Given the description of an element on the screen output the (x, y) to click on. 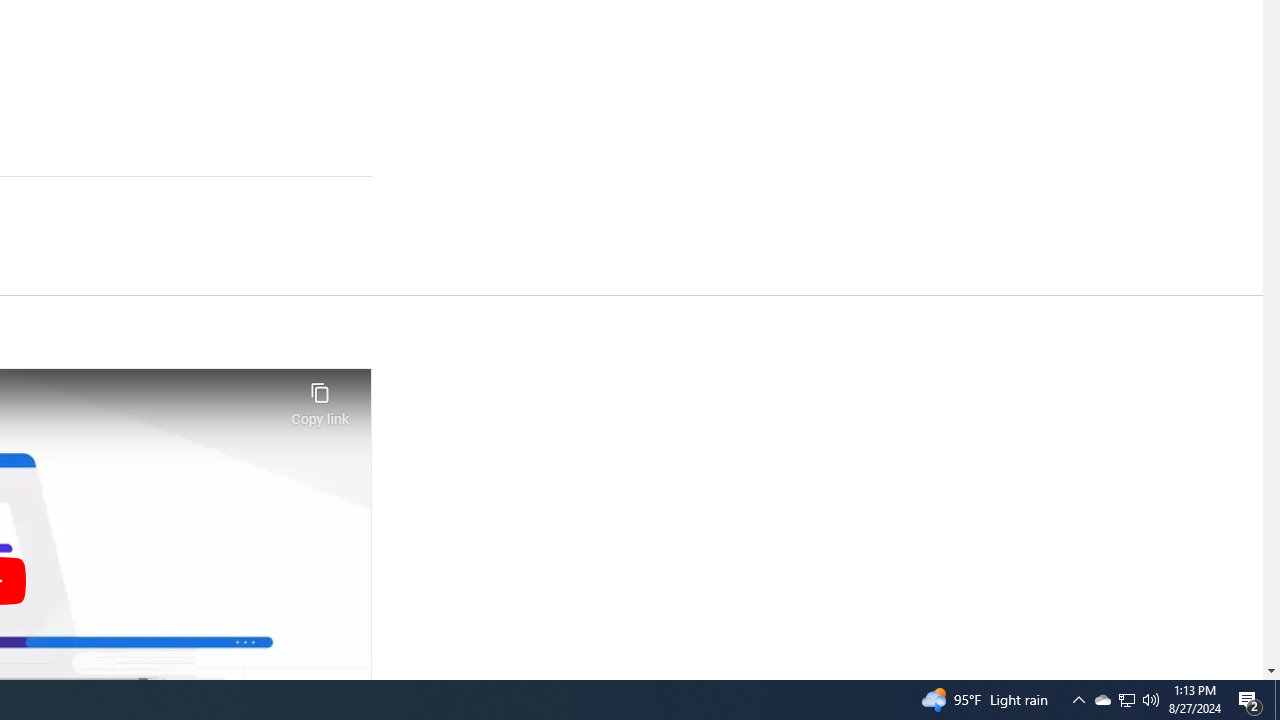
Copy link (319, 398)
